Given the description of an element on the screen output the (x, y) to click on. 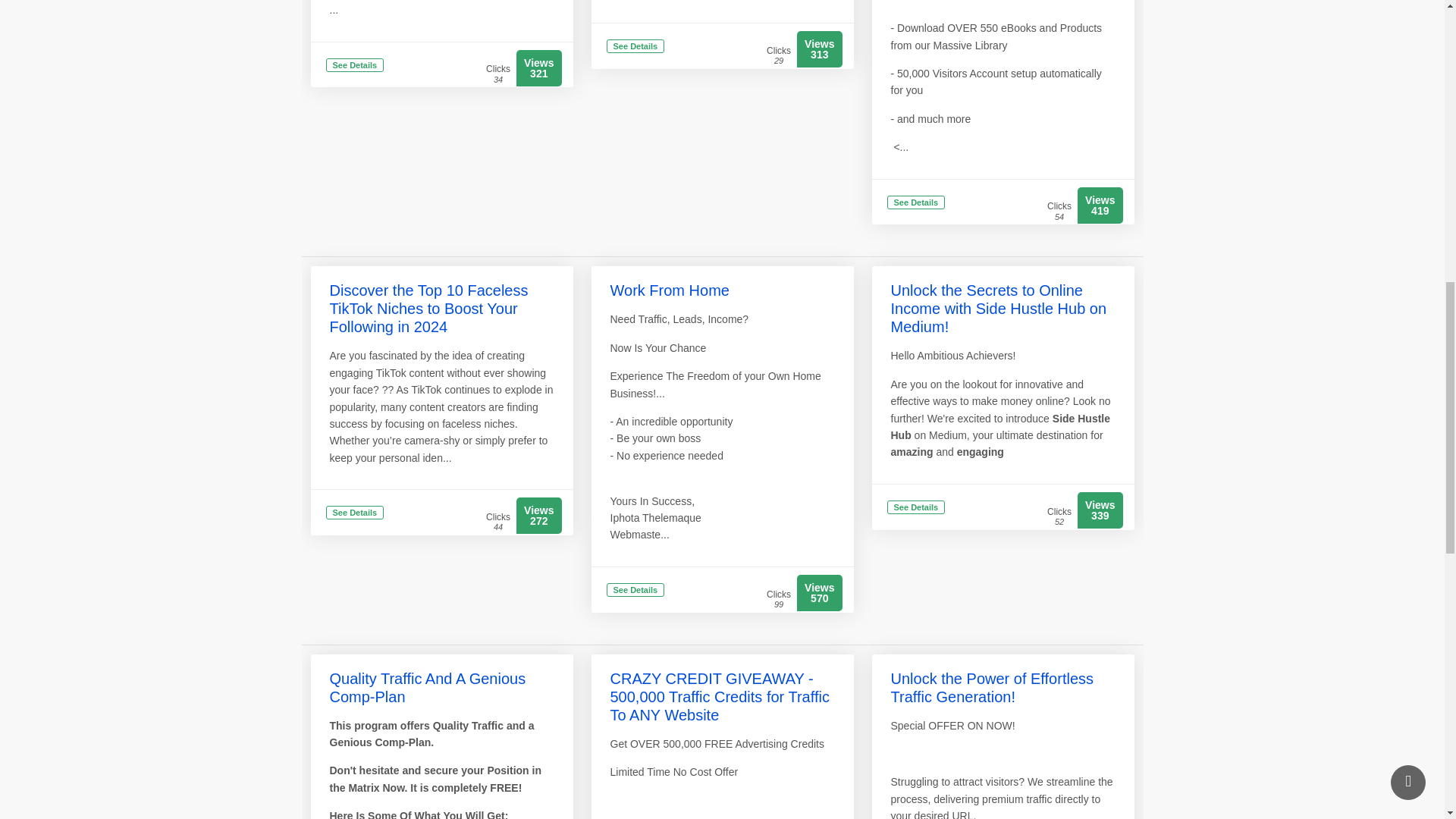
See Details (636, 47)
Unlock the Power of Effortless Traffic Generation! (991, 687)
See Details (355, 513)
See Details (355, 66)
See Details (915, 508)
Quality Traffic And A Genious Comp-Plan (427, 687)
See Details (636, 591)
See Details (915, 203)
Work From Home (669, 289)
